Given the description of an element on the screen output the (x, y) to click on. 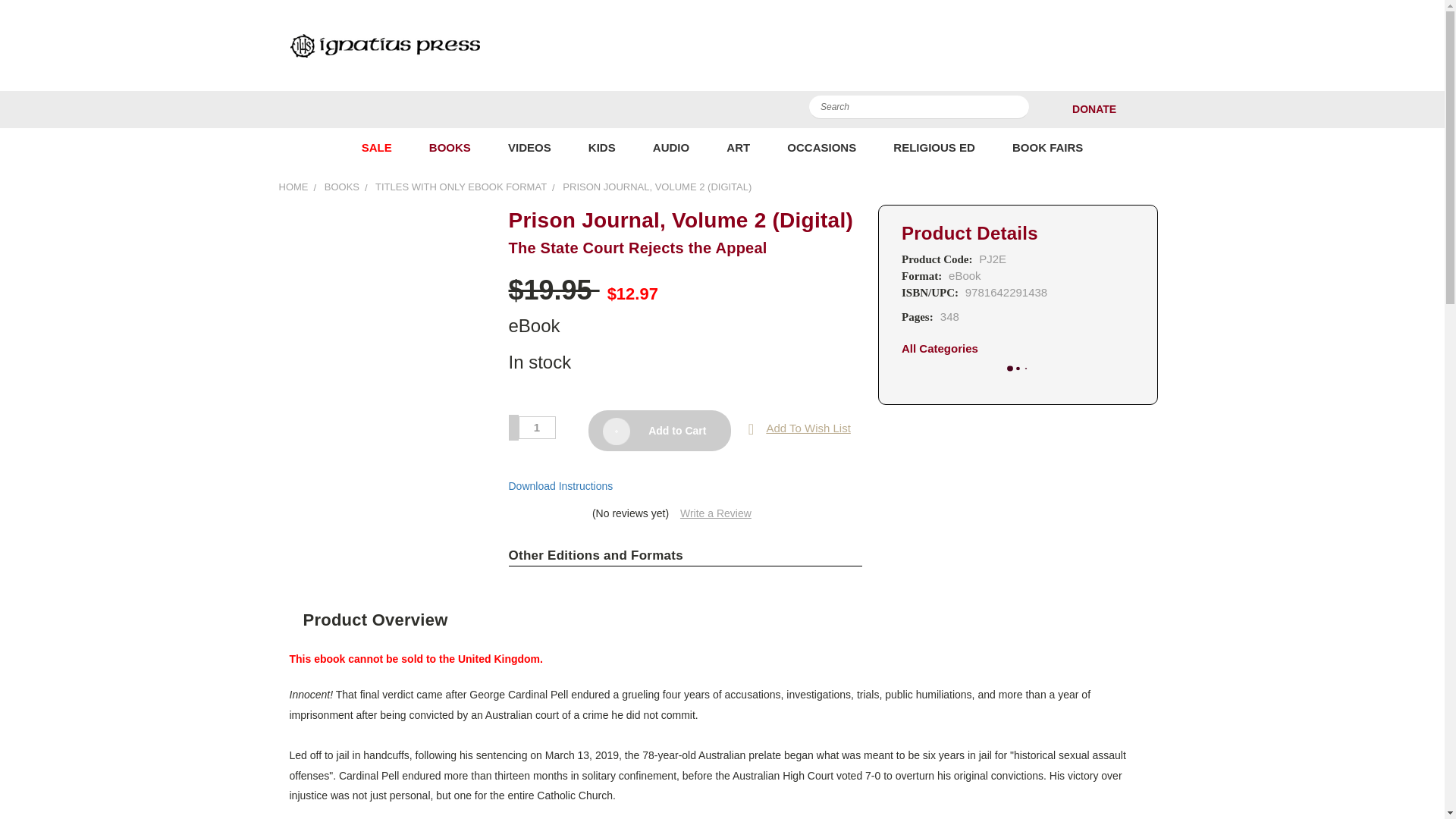
User Toolbox (1135, 109)
1 (537, 427)
Cart (1161, 109)
Ignatius Press (384, 44)
Submit Search (1017, 109)
Add to Cart (659, 430)
